Given the description of an element on the screen output the (x, y) to click on. 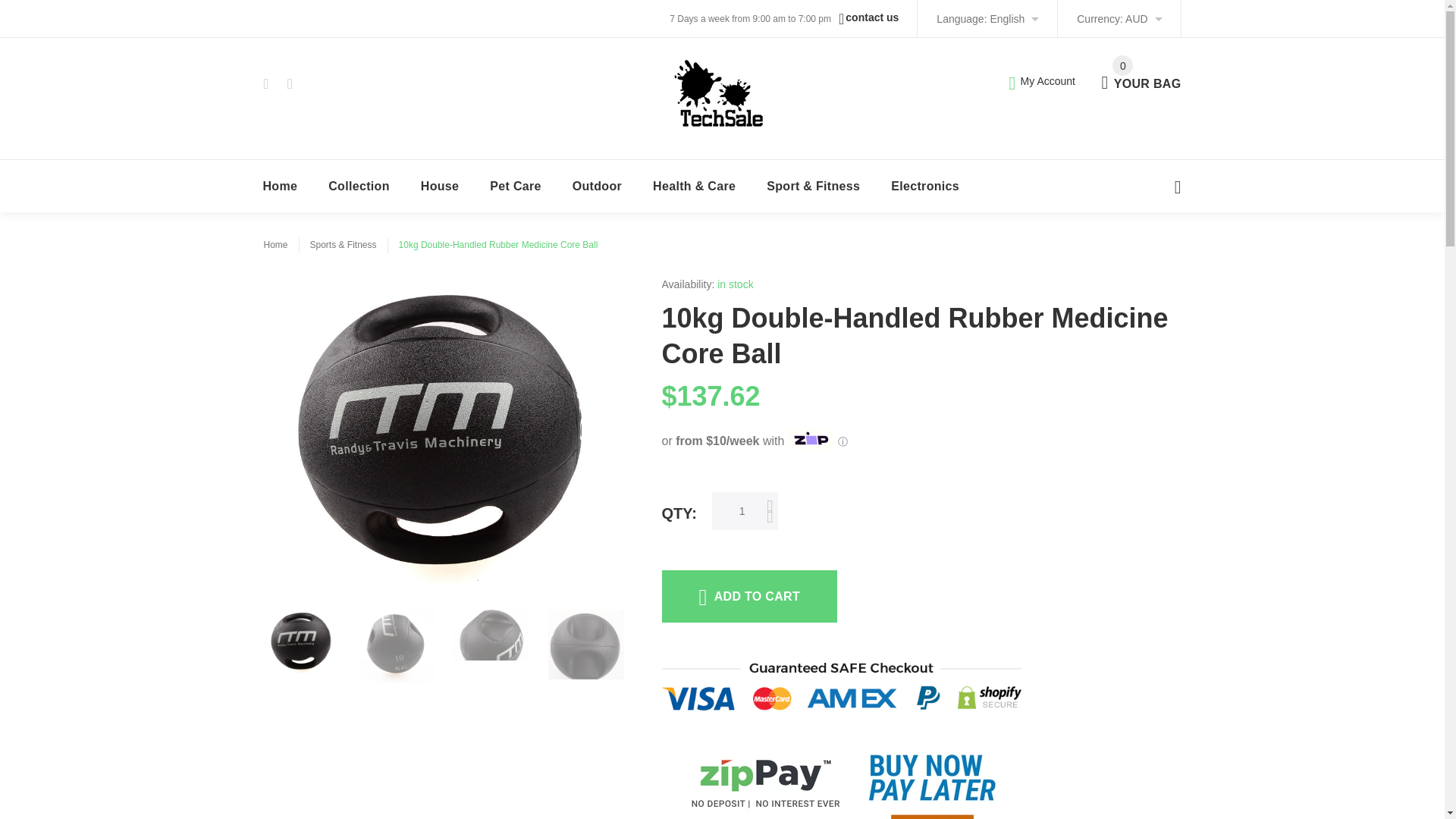
Language: English (987, 18)
Home (280, 185)
Collection (359, 185)
My Account (1042, 80)
Currency: AUD (1118, 18)
Buy Now, and Pay Later with zipPay (1141, 74)
House (920, 769)
1 (441, 185)
